Given the description of an element on the screen output the (x, y) to click on. 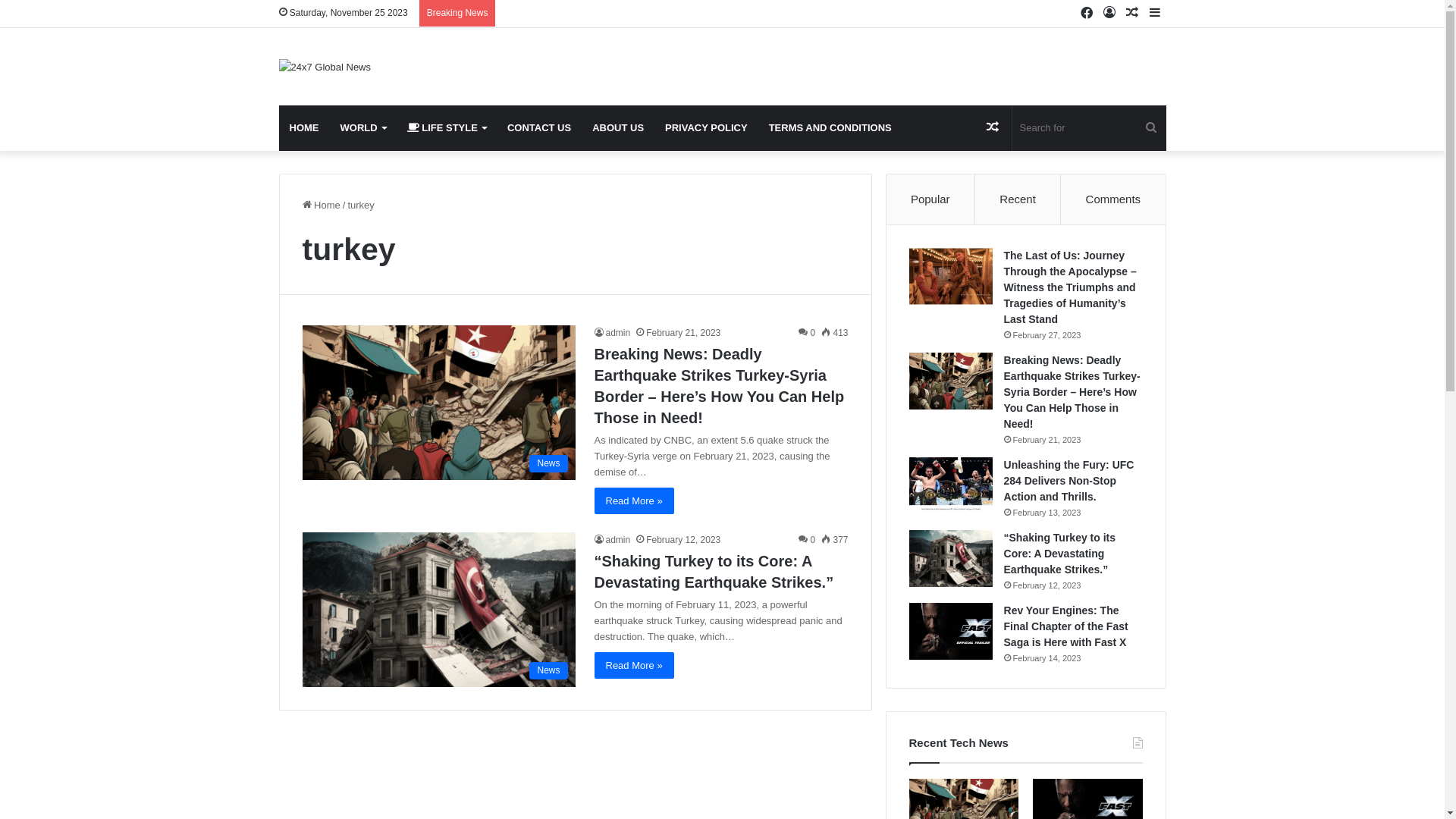
Facebook Element type: text (1086, 13)
Search for Element type: hover (1088, 127)
Sidebar Element type: text (1154, 13)
News Element type: text (437, 609)
Popular Element type: text (930, 199)
ABOUT US Element type: text (617, 127)
Random Article Element type: text (1131, 13)
WORLD Element type: text (362, 127)
Home Element type: text (320, 204)
News Element type: text (437, 402)
Log In Element type: text (1109, 13)
admin Element type: text (612, 332)
TERMS AND CONDITIONS Element type: text (830, 127)
PRIVACY POLICY Element type: text (706, 127)
CONTACT US Element type: text (538, 127)
Recent Element type: text (1017, 199)
24x7 Global News Element type: hover (325, 66)
HOME Element type: text (304, 127)
admin Element type: text (612, 539)
Random Article Element type: text (992, 127)
Comments Element type: text (1112, 199)
Search for Element type: text (1150, 127)
LIFE STYLE Element type: text (446, 127)
